Given the description of an element on the screen output the (x, y) to click on. 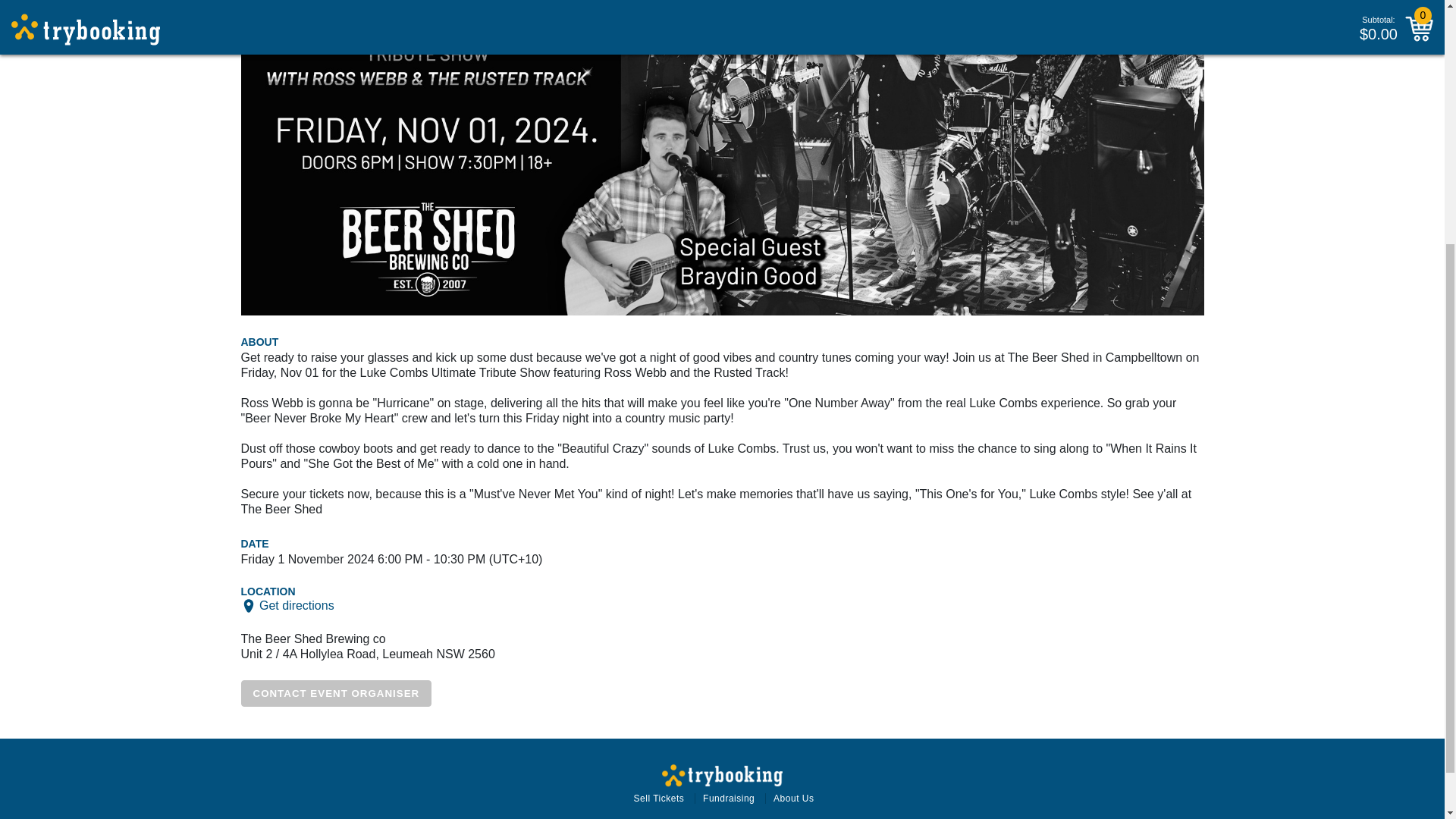
About Us (793, 798)
Fundraising (728, 798)
CONTACT EVENT ORGANISER (336, 693)
Get directions (296, 604)
Sell Tickets (658, 798)
